Given the description of an element on the screen output the (x, y) to click on. 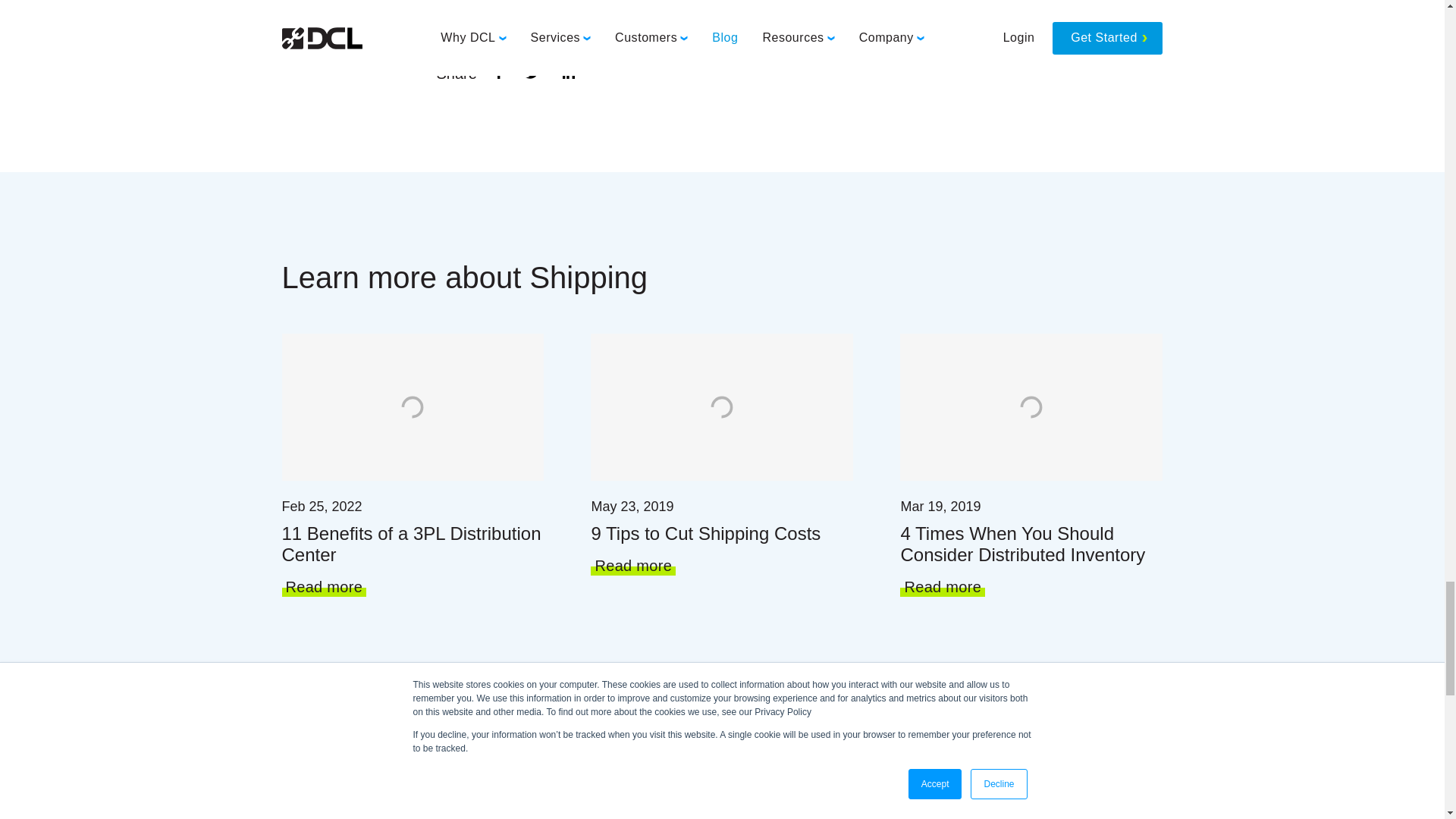
9 Tips to Cut Shipping Costs (722, 533)
Read more (942, 588)
International (518, 0)
Read more (633, 566)
11 Benefits of a 3PL Distribution Center (413, 544)
4 Times When You Should Consider Distributed Inventory (1030, 544)
Read more (324, 588)
